Given the description of an element on the screen output the (x, y) to click on. 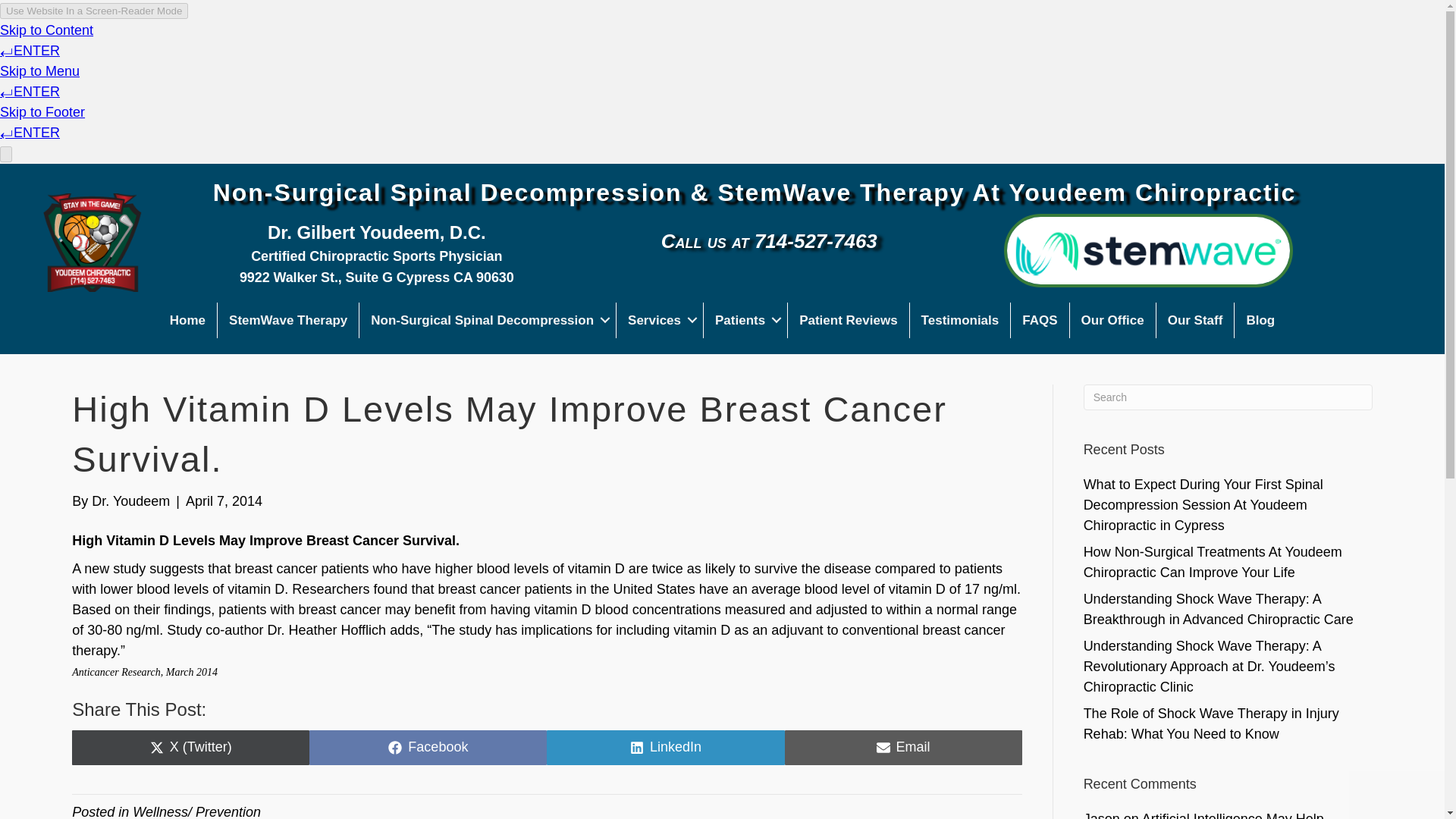
Type and press Enter to search. (665, 747)
Testimonials (1228, 397)
Home (960, 320)
Dr. Youdeem (187, 320)
Patients (130, 500)
Services (745, 320)
Patient Reviews (659, 320)
Blog (847, 320)
